Given the description of an element on the screen output the (x, y) to click on. 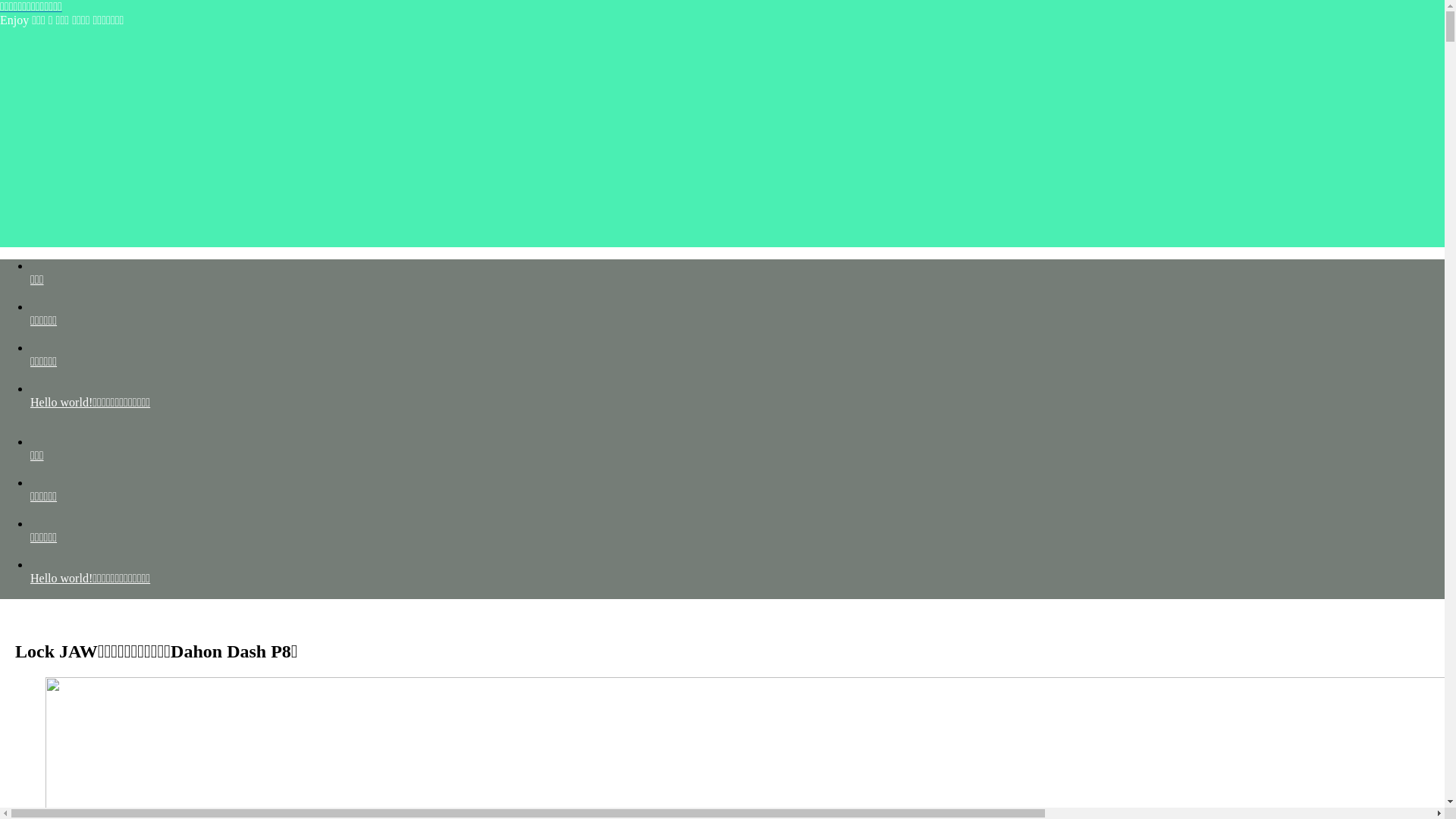
Advertisement Element type: hover (721, 140)
